Given the description of an element on the screen output the (x, y) to click on. 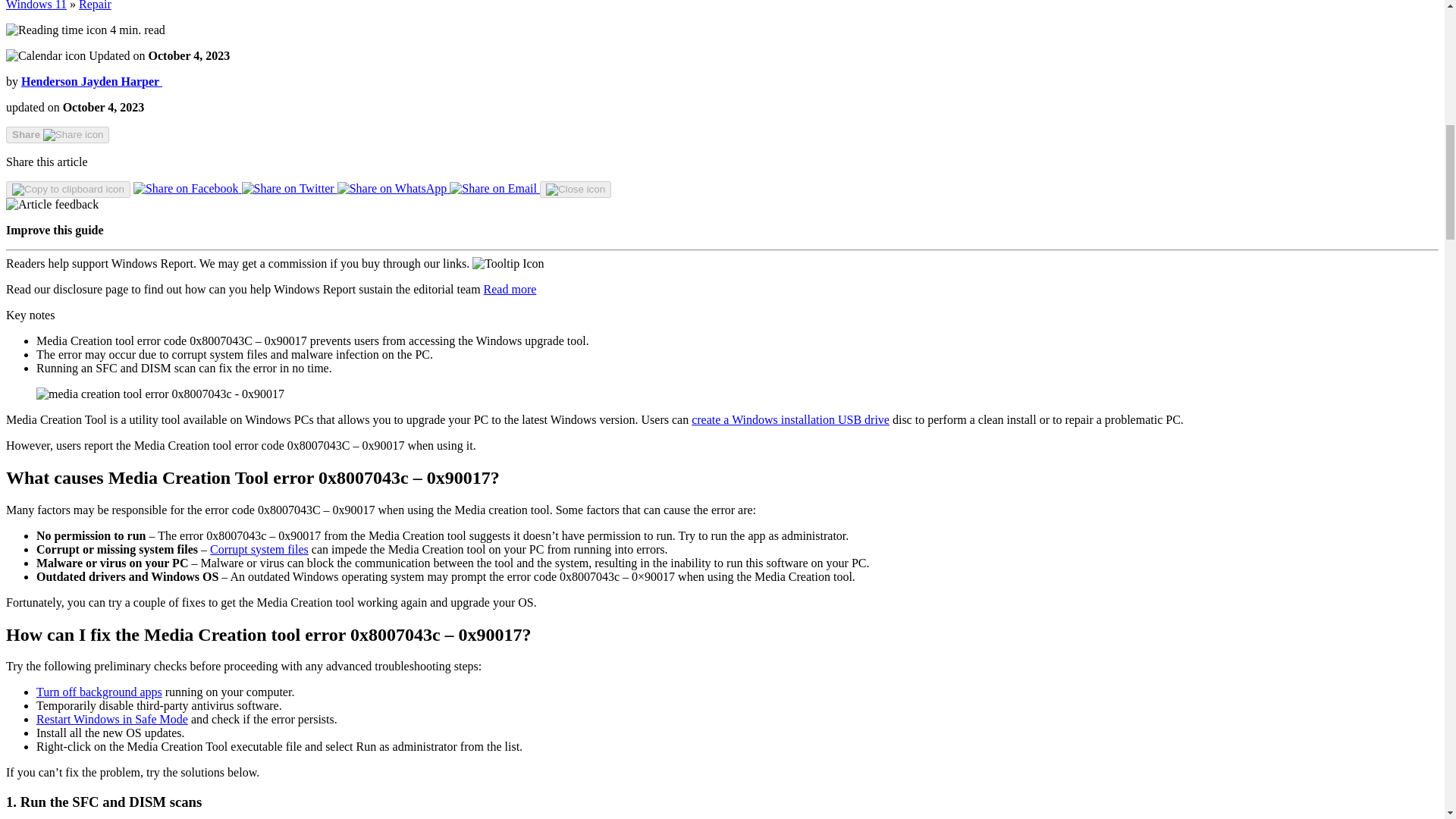
Published on February 22, 2023 (103, 106)
Share this article (57, 134)
Windows 11 (35, 5)
